Given the description of an element on the screen output the (x, y) to click on. 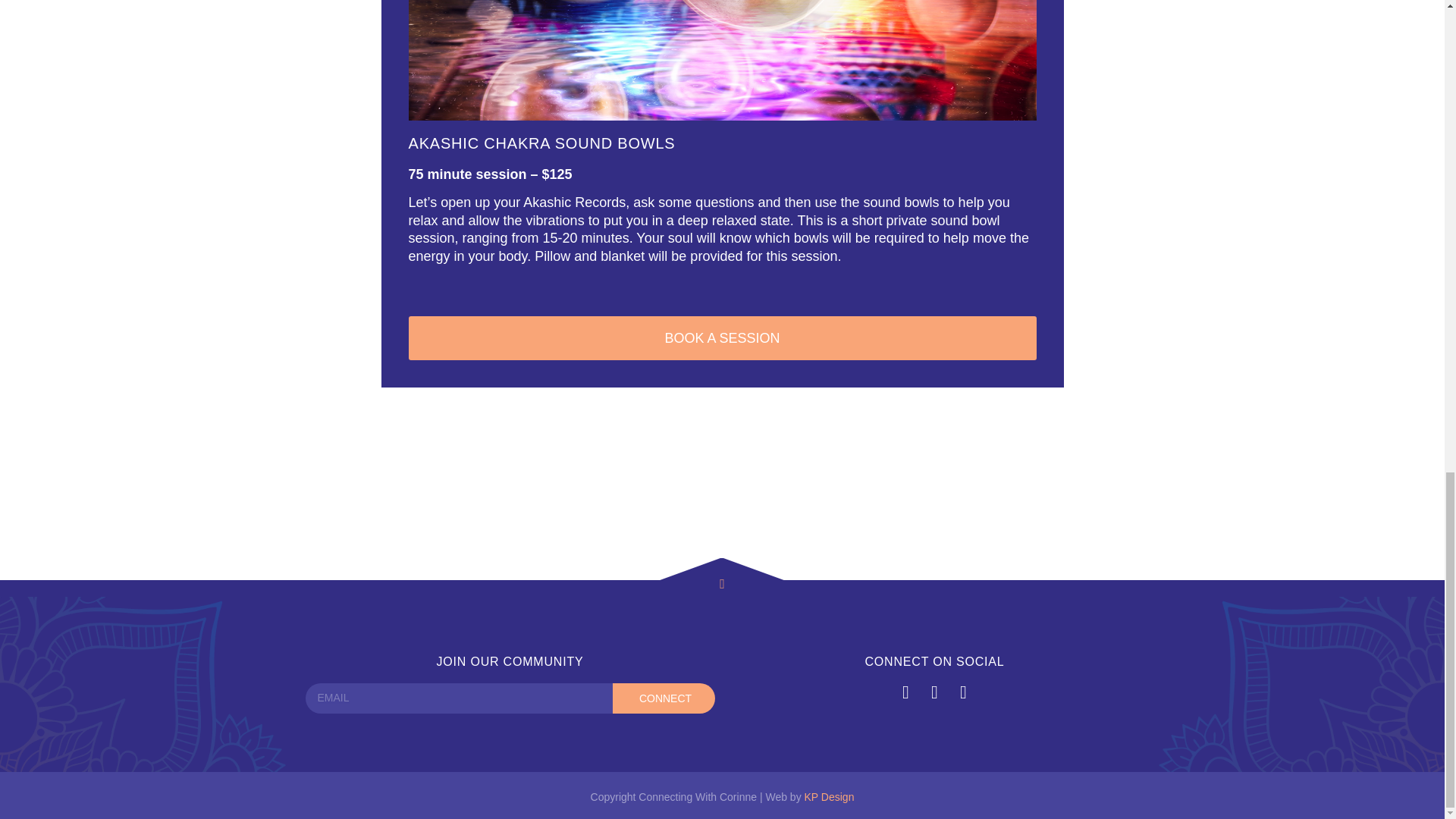
BOOK A SESSION (721, 338)
KP Design (829, 797)
CONNECT (663, 698)
